Given the description of an element on the screen output the (x, y) to click on. 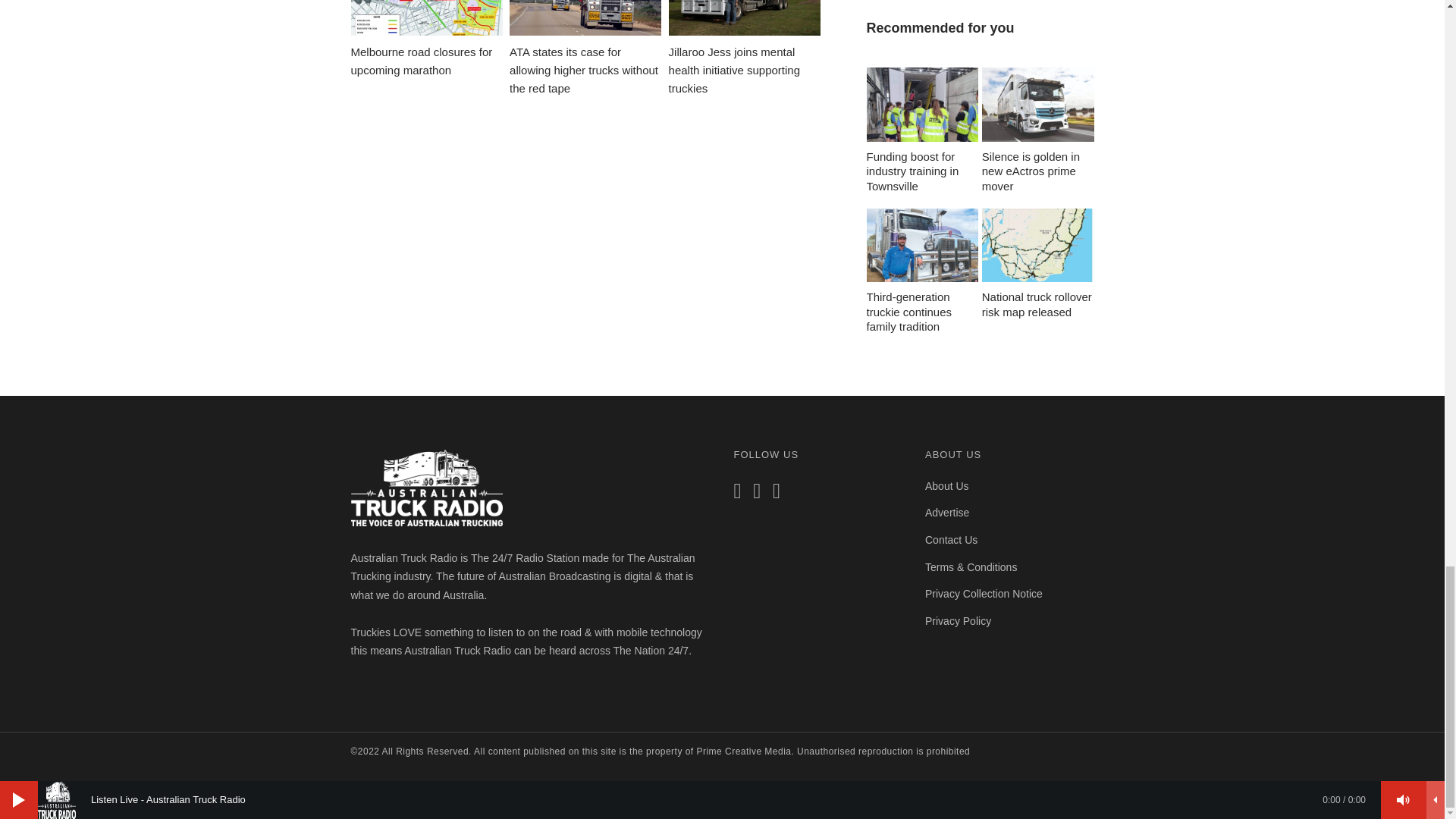
Melbourne road closures for upcoming marathon (426, 39)
